Given the description of an element on the screen output the (x, y) to click on. 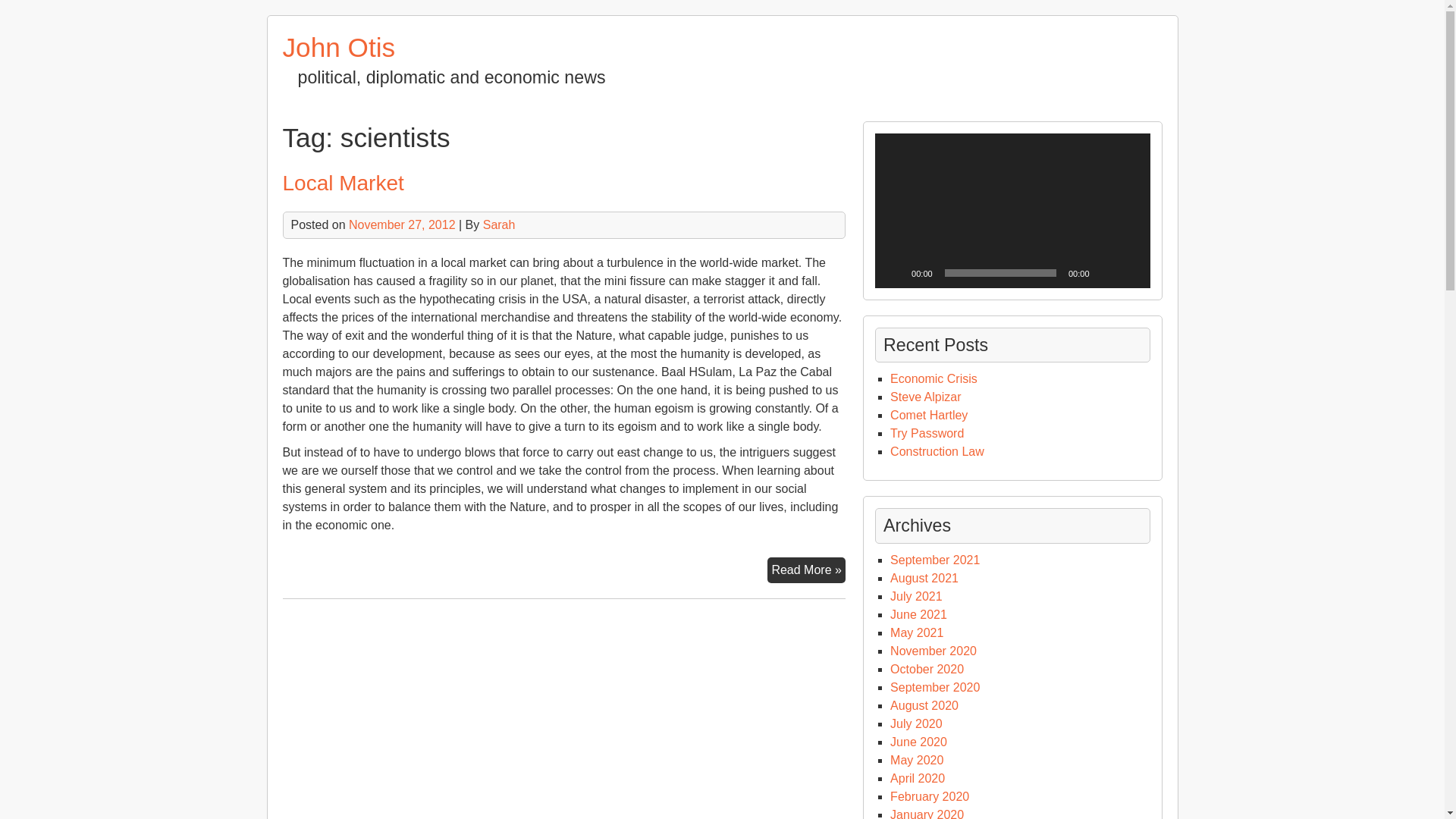
Steve Alpizar (924, 396)
Comet Hartley (928, 414)
April 2020 (916, 778)
Sarah (499, 224)
Play (894, 272)
July 2021 (915, 595)
August 2020 (923, 705)
January 2020 (926, 813)
Economic Crisis (932, 378)
June 2020 (918, 741)
John Otis (338, 47)
July 2020 (915, 723)
February 2020 (929, 796)
September 2021 (934, 559)
May 2020 (916, 759)
